Given the description of an element on the screen output the (x, y) to click on. 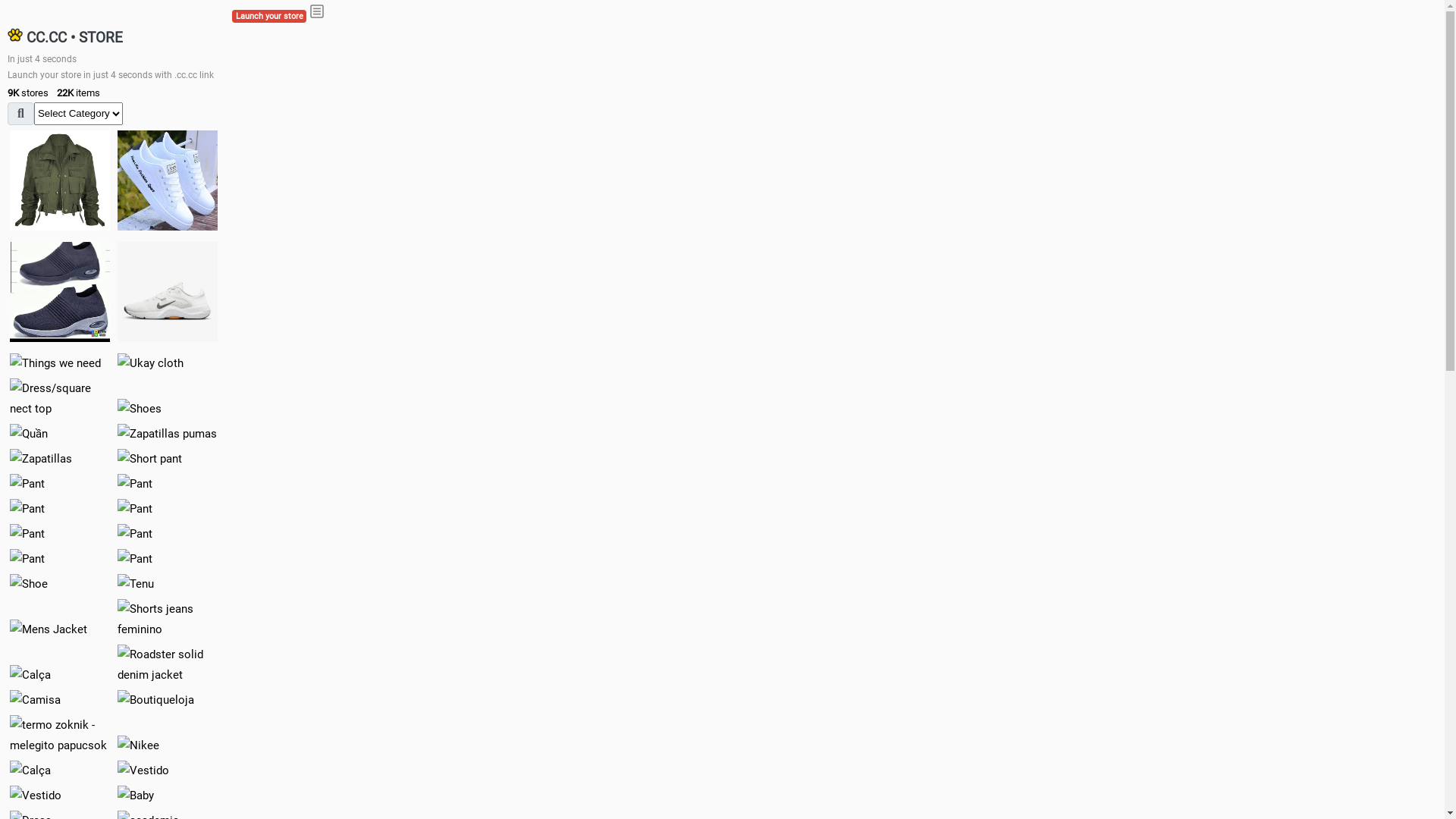
shoes for boys Element type: hover (59, 291)
Shoes for boys Element type: hover (167, 291)
Dress/square nect top Element type: hover (59, 398)
Mens Jacket Element type: hover (48, 629)
Camisa Element type: hover (34, 700)
Zapatillas pumas Element type: hover (166, 433)
Boutiqueloja Element type: hover (155, 700)
Ukay cloth Element type: hover (150, 363)
Pant Element type: hover (134, 508)
Shoe Element type: hover (28, 584)
Pant Element type: hover (26, 483)
Pant Element type: hover (134, 483)
Baby Element type: hover (135, 795)
Shoes Element type: hover (139, 408)
Nikee Element type: hover (138, 745)
Pant Element type: hover (26, 508)
Pant Element type: hover (26, 559)
white shoes Element type: hover (167, 180)
Zapatillas Element type: hover (40, 458)
Pant Element type: hover (134, 559)
Pant Element type: hover (26, 534)
Launch your store Element type: text (269, 15)
termo zoknik - melegito papucsok Element type: hover (59, 735)
Vestido Element type: hover (35, 795)
Things we need Element type: hover (54, 363)
Shorts jeans feminino Element type: hover (167, 619)
Roadster solid denim jacket Element type: hover (167, 664)
Short pant Element type: hover (149, 458)
Tenu Element type: hover (135, 584)
Pant Element type: hover (134, 534)
Vestido Element type: hover (143, 770)
jacket Element type: hover (59, 180)
